Given the description of an element on the screen output the (x, y) to click on. 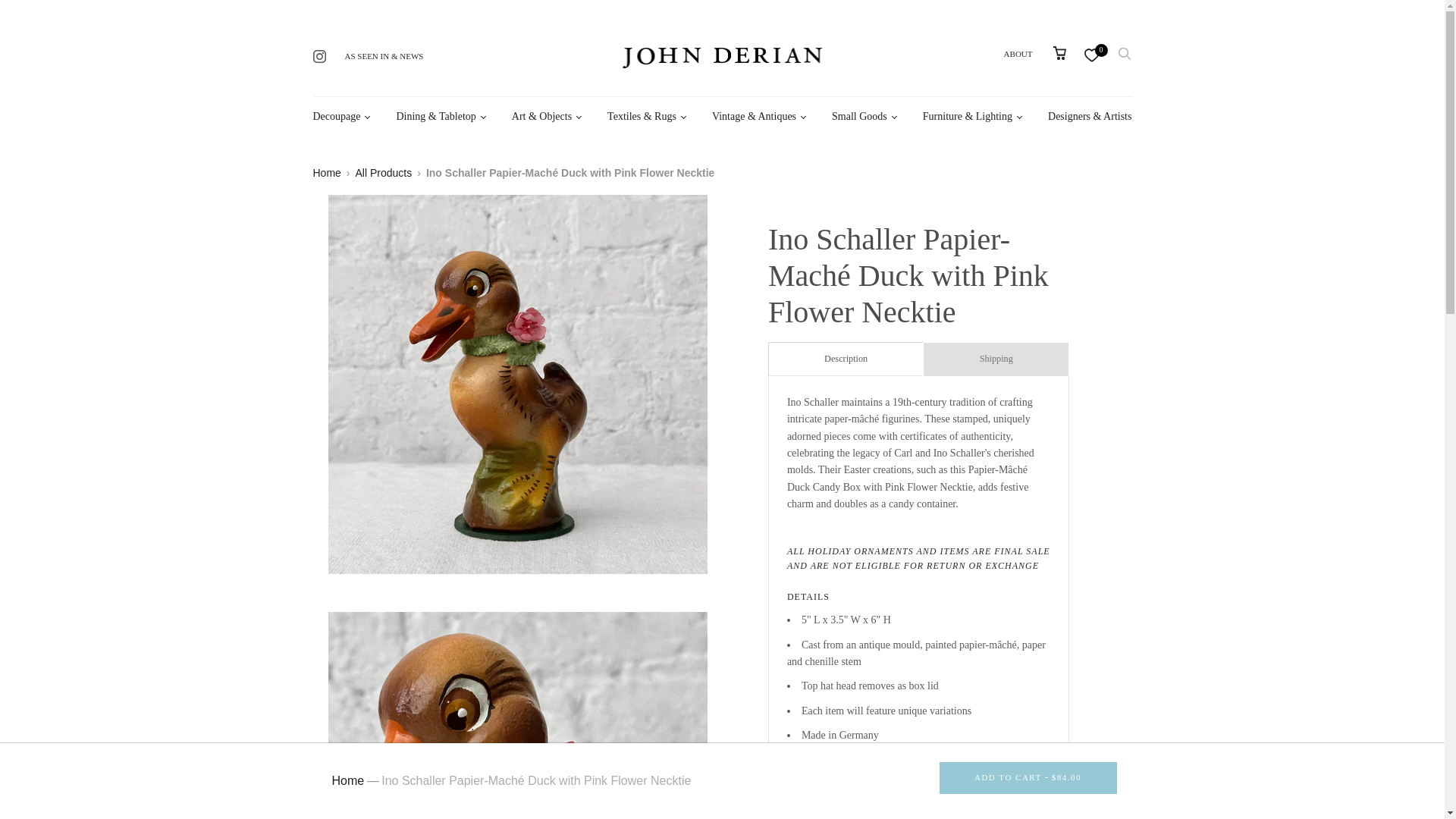
ABOUT (1018, 53)
Home (326, 173)
Home (348, 779)
0 (1090, 53)
Decoupage (336, 116)
